Given the description of an element on the screen output the (x, y) to click on. 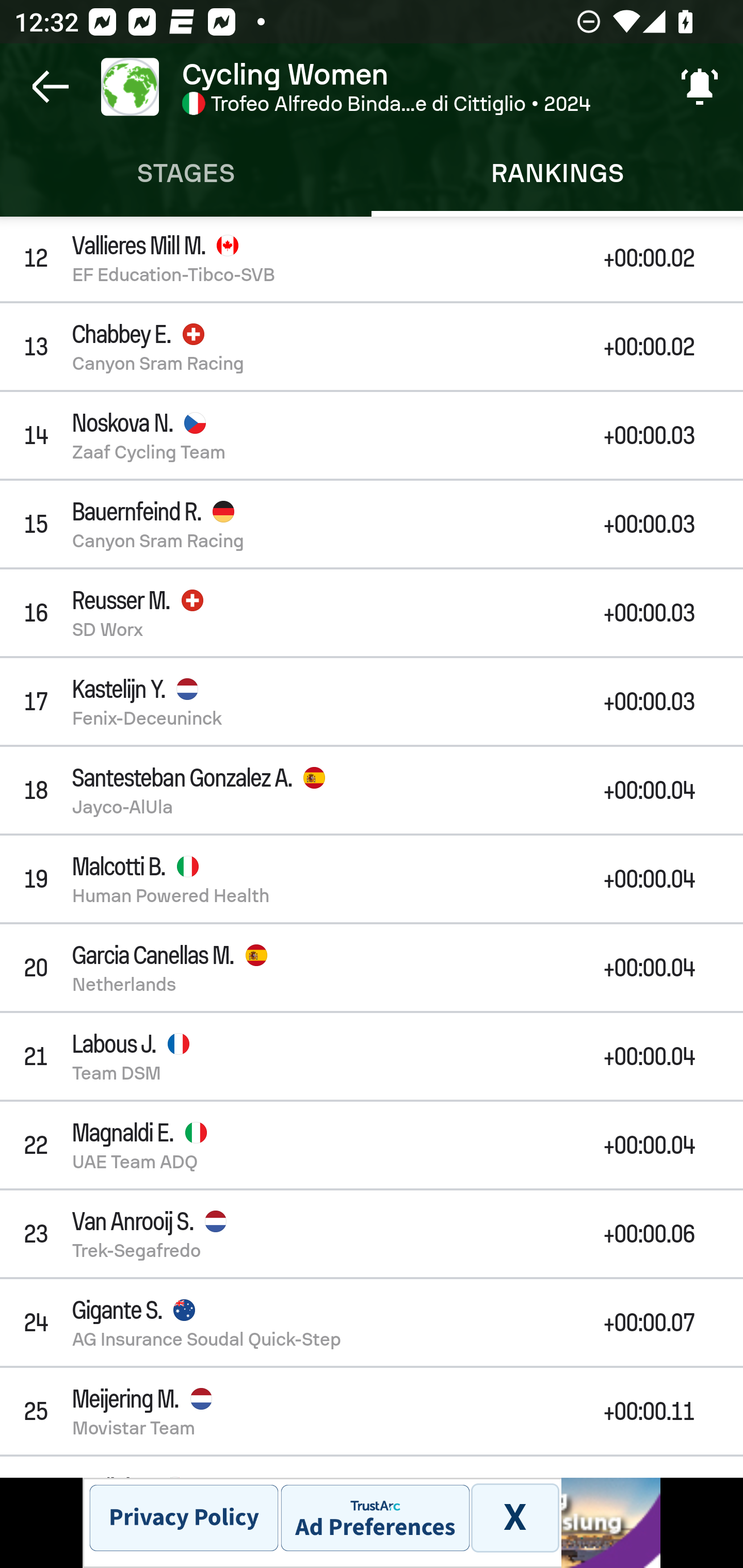
Navigate up (50, 86)
Stages STAGES (185, 173)
13 Chabbey E. Canyon Sram Racing +00:00.02 (371, 346)
14 Noskova N. Zaaf Cycling Team +00:00.03 (371, 435)
15 Bauernfeind R. Canyon Sram Racing +00:00.03 (371, 524)
16 Reusser M. SD Worx +00:00.03 (371, 612)
17 Kastelijn Y. Fenix-Deceuninck +00:00.03 (371, 701)
18 Santesteban Gonzalez A. Jayco-AlUla +00:00.04 (371, 790)
19 Malcotti B. Human Powered Health +00:00.04 (371, 878)
20 Garcia Canellas M. Netherlands +00:00.04 (371, 967)
21 Labous J. Team DSM +00:00.04 (371, 1055)
22 Magnaldi E. UAE Team ADQ +00:00.04 (371, 1145)
23 Van Anrooij S. Trek-Segafredo +00:00.06 (371, 1233)
25 Meijering M. Movistar Team +00:00.11 (371, 1411)
get?name=ta-btn-privacy (183, 1517)
get?name=btn-ad-preferences-2 (374, 1517)
X (513, 1517)
